Given the description of an element on the screen output the (x, y) to click on. 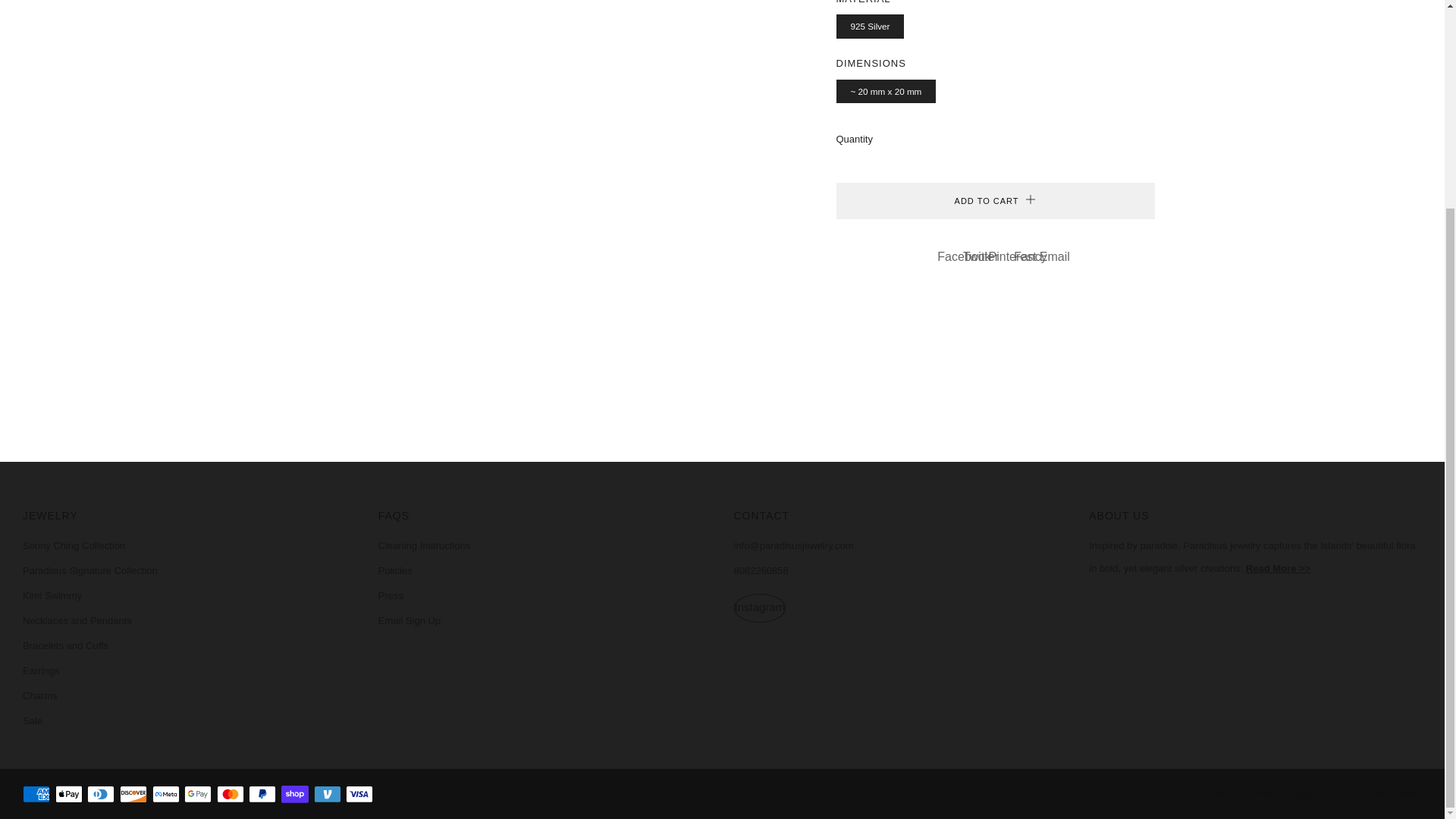
About Us (1278, 568)
